Given the description of an element on the screen output the (x, y) to click on. 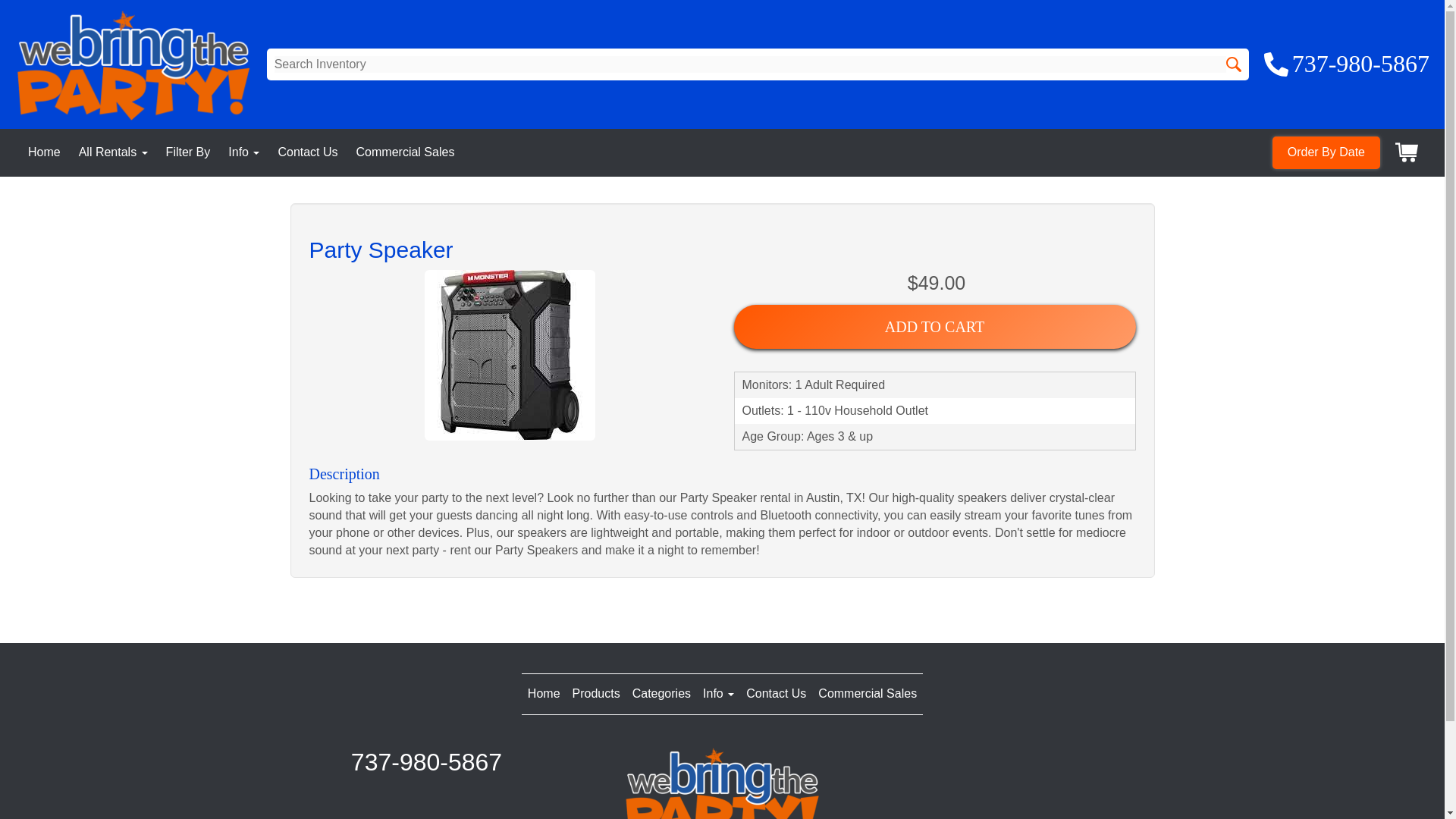
Commercial Sales (867, 693)
Home (44, 151)
Contact Us (307, 151)
Products (596, 693)
Party Speaker (510, 355)
Commercial Sales (405, 151)
Info (243, 151)
Order By Date (1326, 152)
Categories (660, 693)
737-980-5867 (1346, 63)
